Given the description of an element on the screen output the (x, y) to click on. 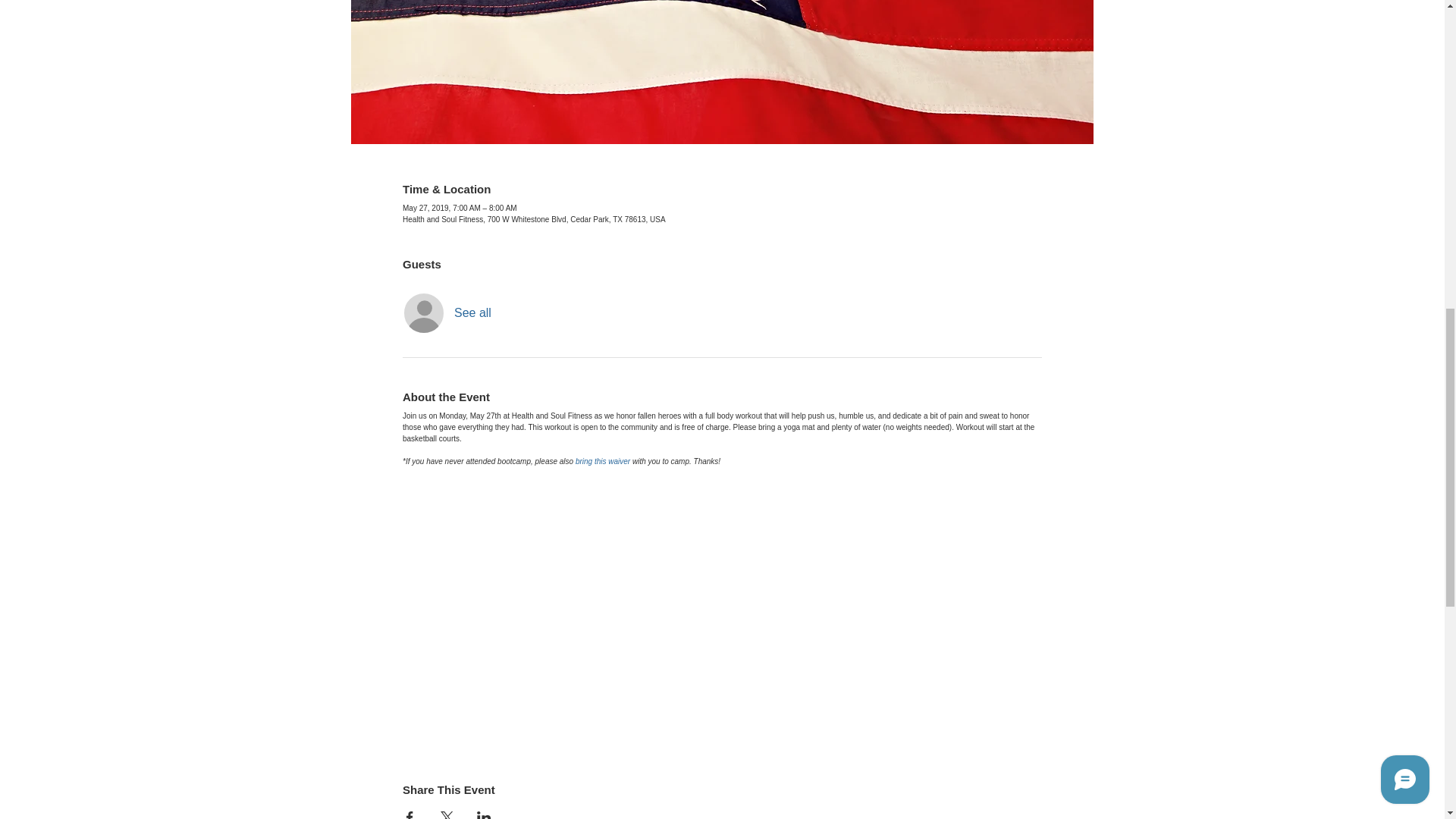
bring this waiver (602, 460)
See all (473, 312)
